Given the description of an element on the screen output the (x, y) to click on. 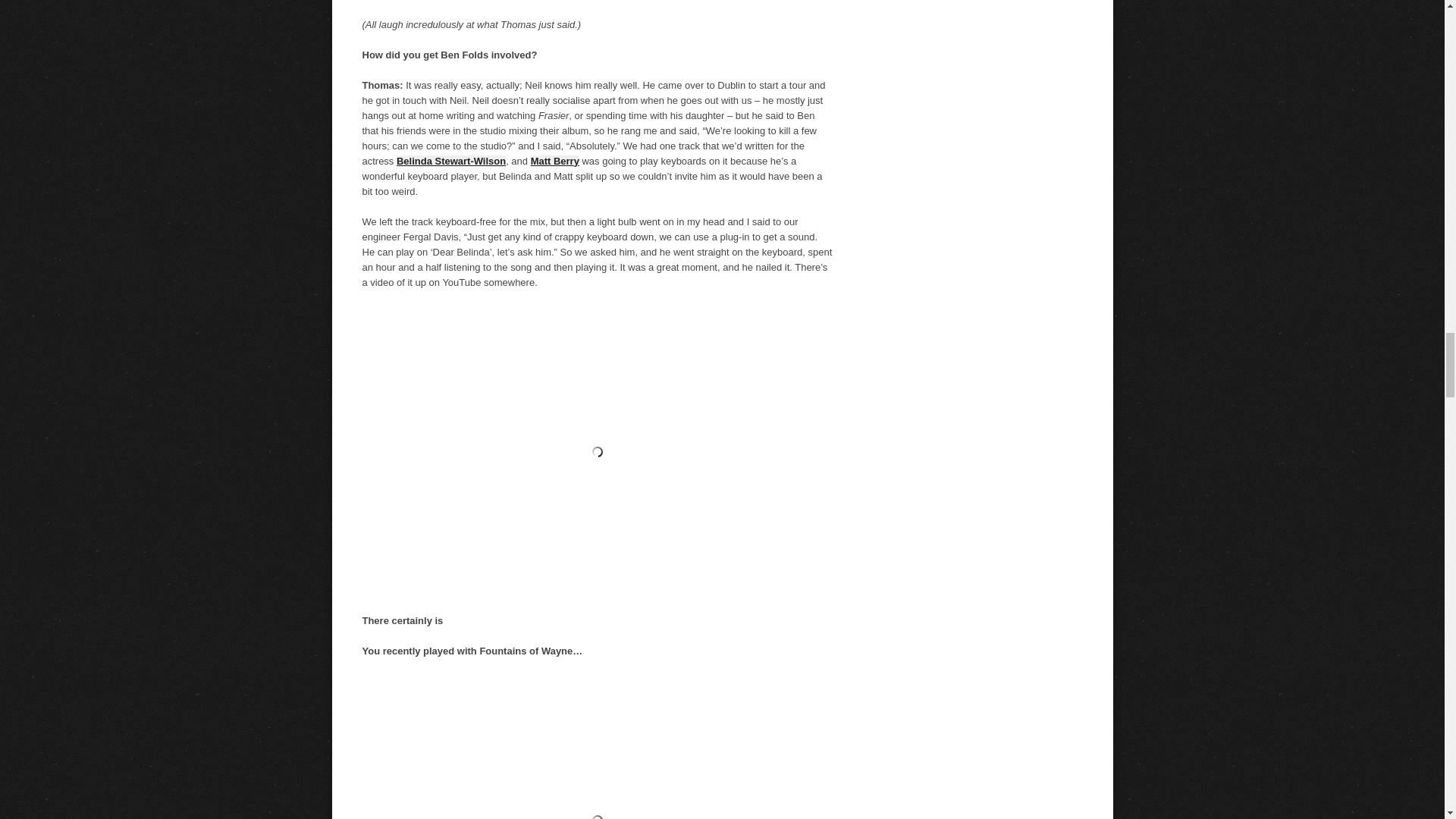
Matt Berry (555, 160)
Belinda Stewart-Wilson (450, 160)
